Given the description of an element on the screen output the (x, y) to click on. 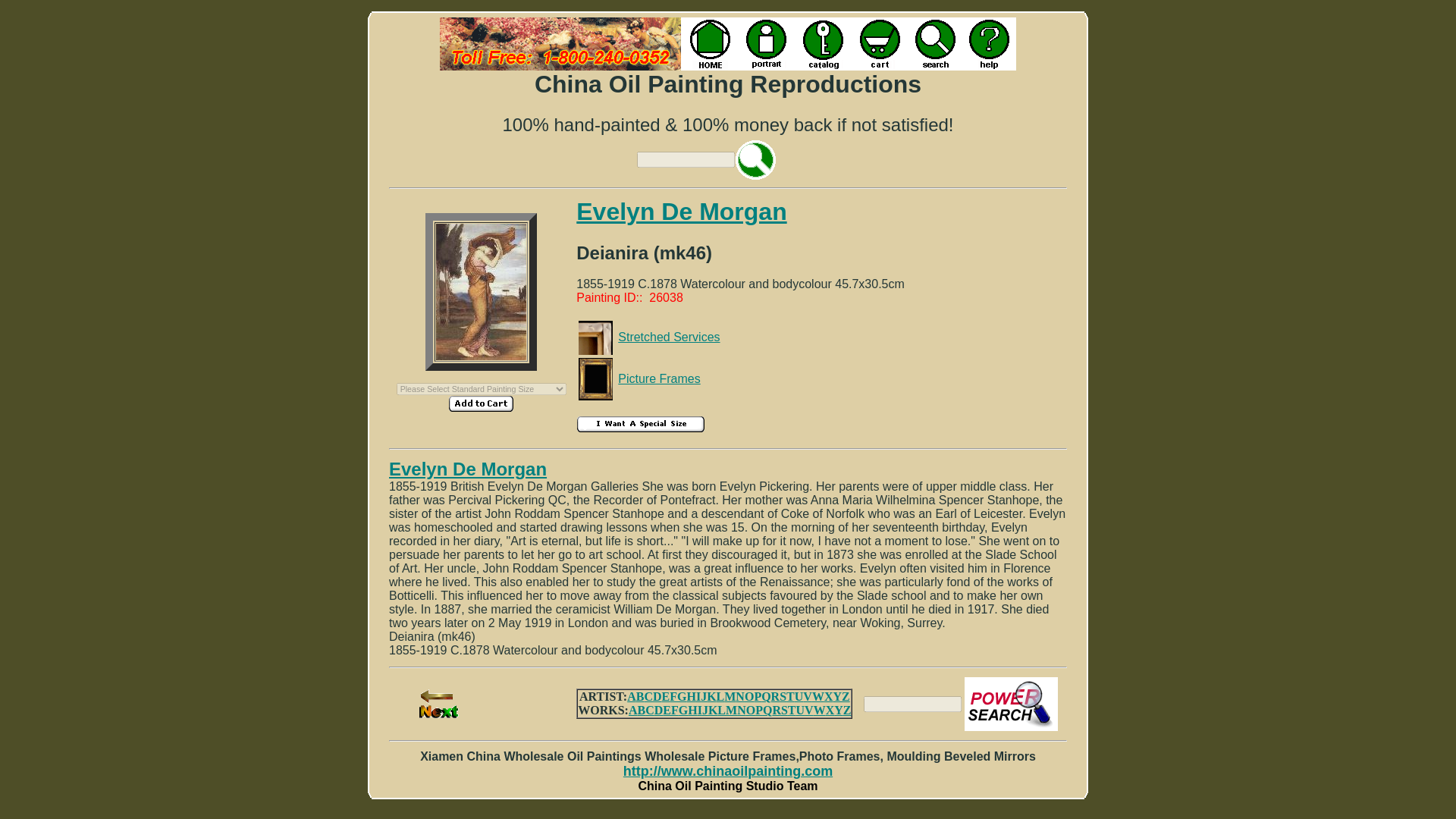
Evelyn De Morgan (467, 468)
Picture Frames (658, 378)
W (818, 696)
Stretched Services (668, 336)
Evelyn De Morgan (681, 211)
